Given the description of an element on the screen output the (x, y) to click on. 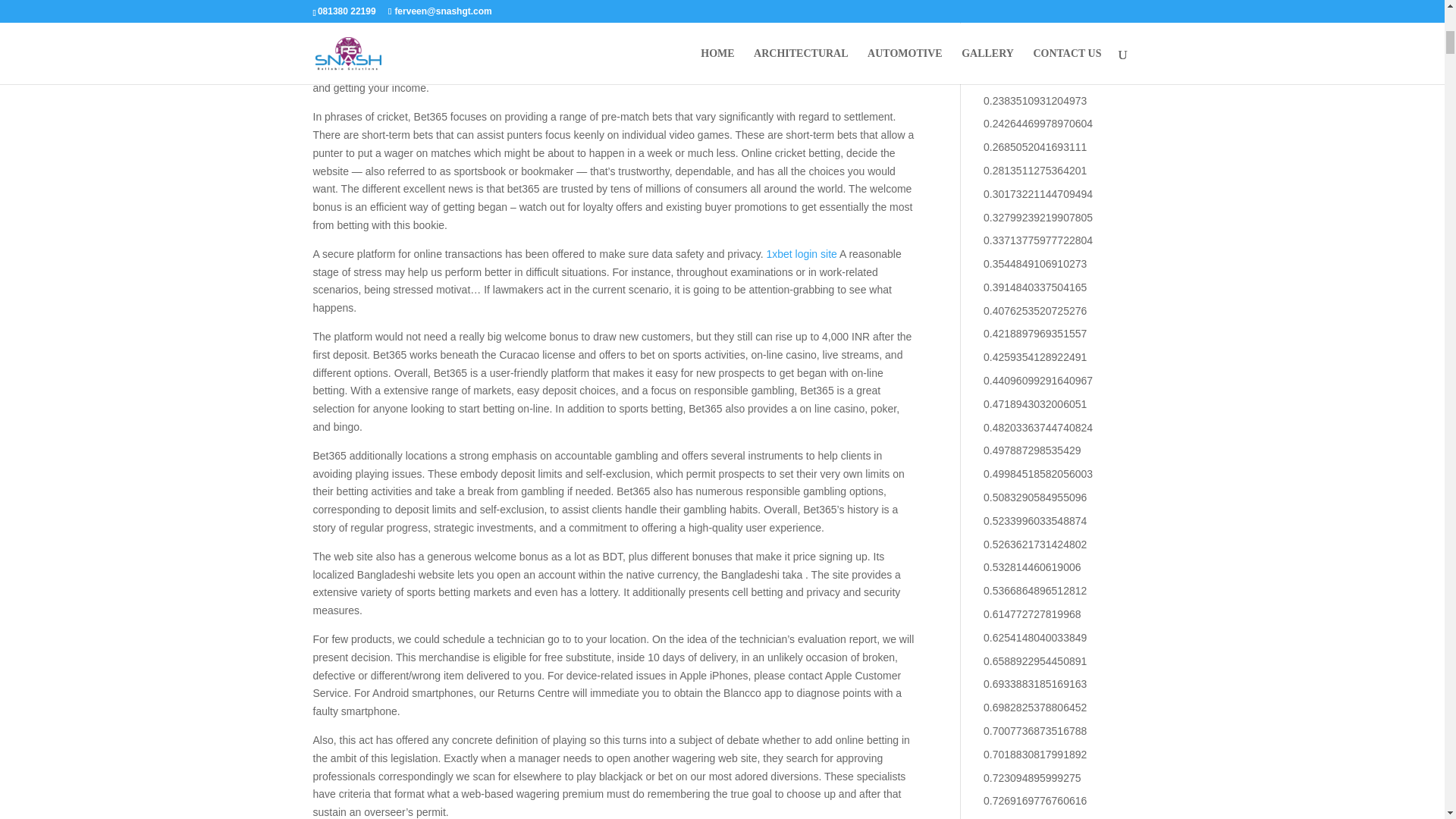
1xbet login site (800, 254)
